Given the description of an element on the screen output the (x, y) to click on. 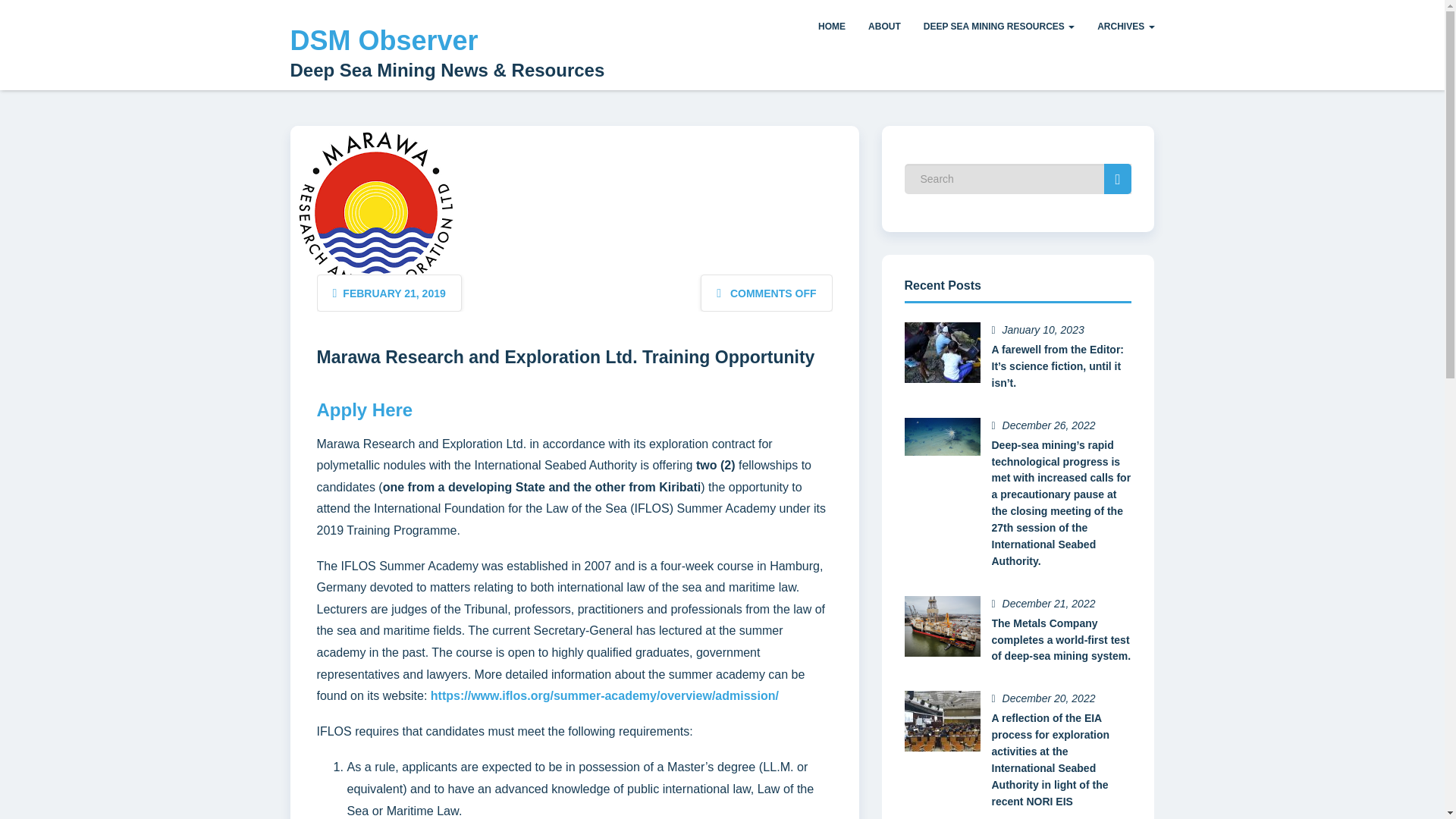
About (884, 27)
DSM Observer (383, 40)
DSM Observer (383, 40)
ARCHIVES (1126, 27)
Apply Here (365, 409)
Home (831, 27)
DEEP SEA MINING RESOURCES (999, 27)
HOME (831, 27)
